Given the description of an element on the screen output the (x, y) to click on. 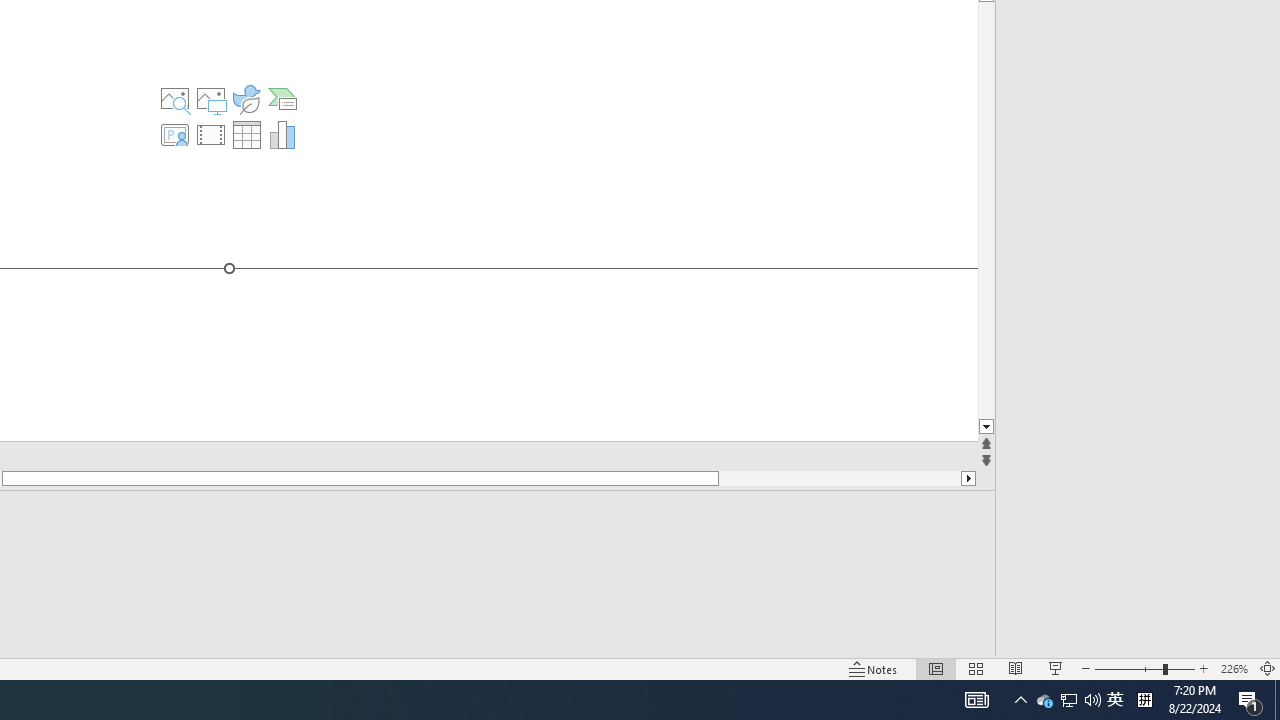
Insert Chart (283, 134)
